Given the description of an element on the screen output the (x, y) to click on. 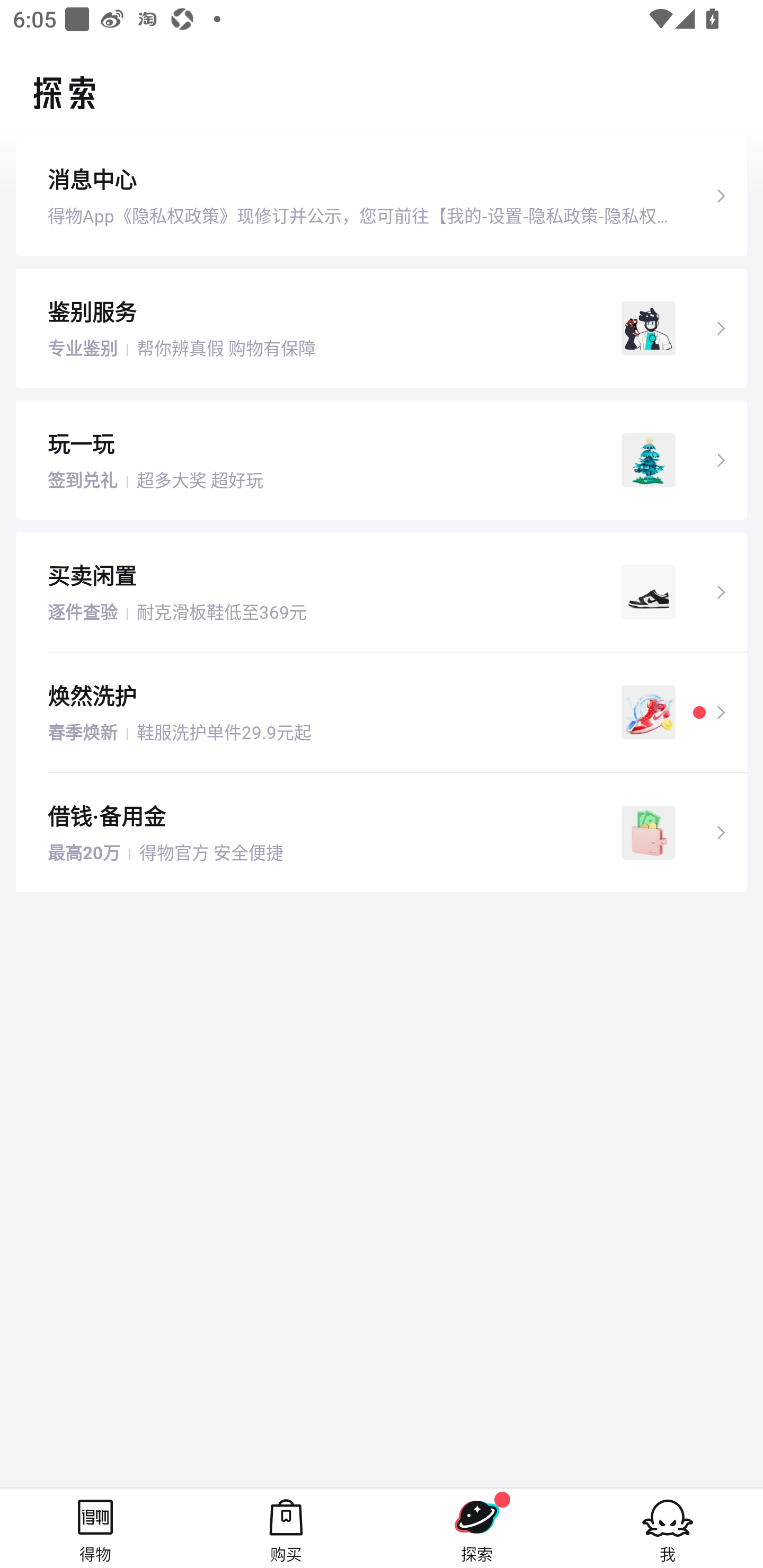
鉴别服务 专业鉴别 丨 帮你辨真假 购物有保障 (381, 327)
玩一玩 签到兑礼 丨 超多大奖 超好玩 (381, 459)
买卖闲置 逐件查验 丨 耐克滑板鞋低至369元 (381, 592)
焕然洗护 春季焕新 丨 鞋服洗护单件29.9元起 (381, 711)
借钱·备用金 最高20万 丨 得物官方 安全便捷 (381, 832)
得物 (95, 1528)
购买 (285, 1528)
探索 (476, 1528)
我 (667, 1528)
